Given the description of an element on the screen output the (x, y) to click on. 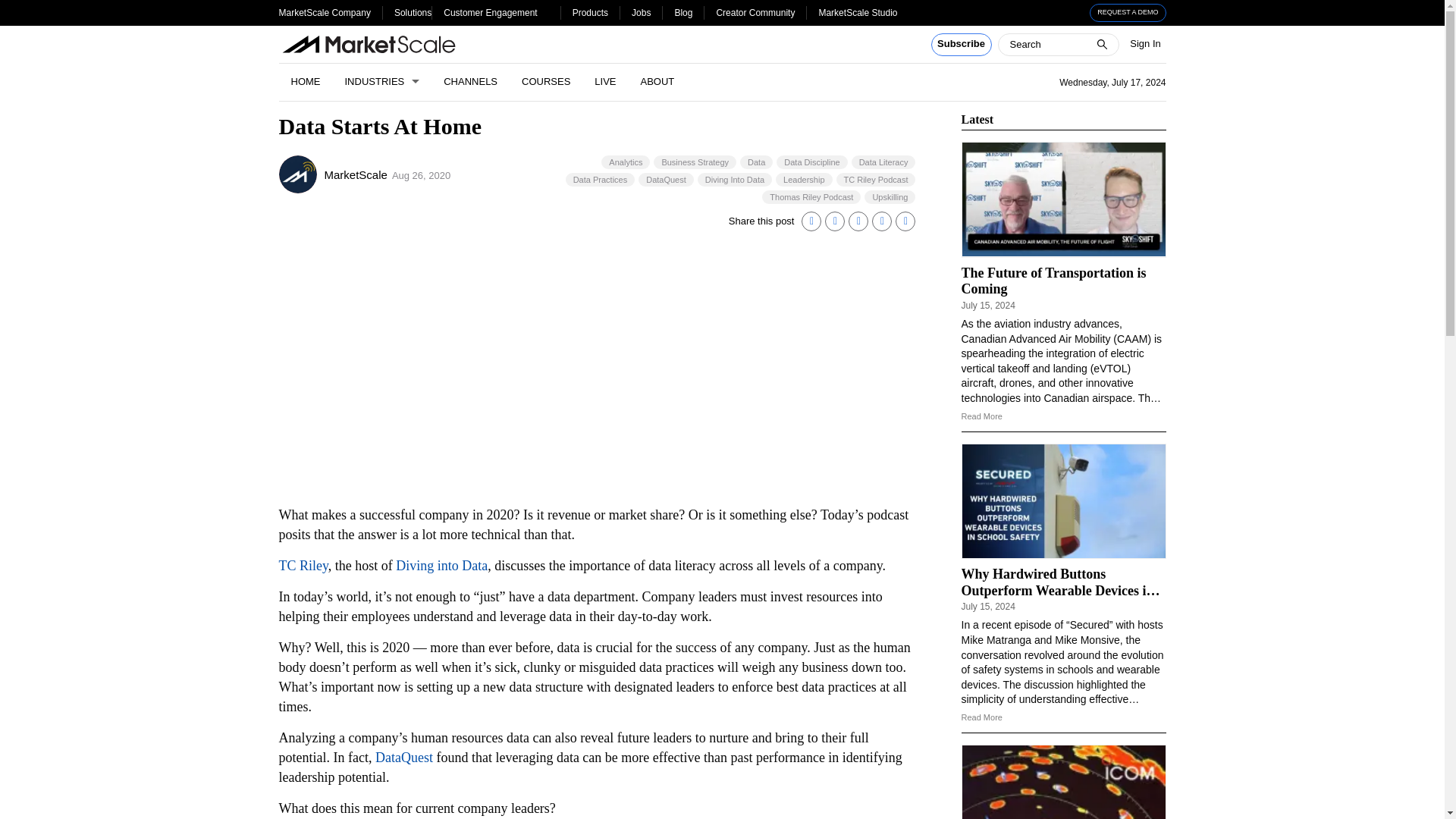
Share on Linkedin (811, 220)
Customer Engagement (490, 12)
MarketScale (298, 174)
Blog (683, 12)
Share on Email (881, 220)
Share on X (834, 220)
REQUEST A DEMO (1127, 13)
Solutions (412, 12)
Share on Facebook (857, 220)
Creator Community (755, 12)
Subscribe (961, 44)
Products (590, 12)
Jobs (640, 12)
Search (21, 7)
MarketScale (355, 173)
